Given the description of an element on the screen output the (x, y) to click on. 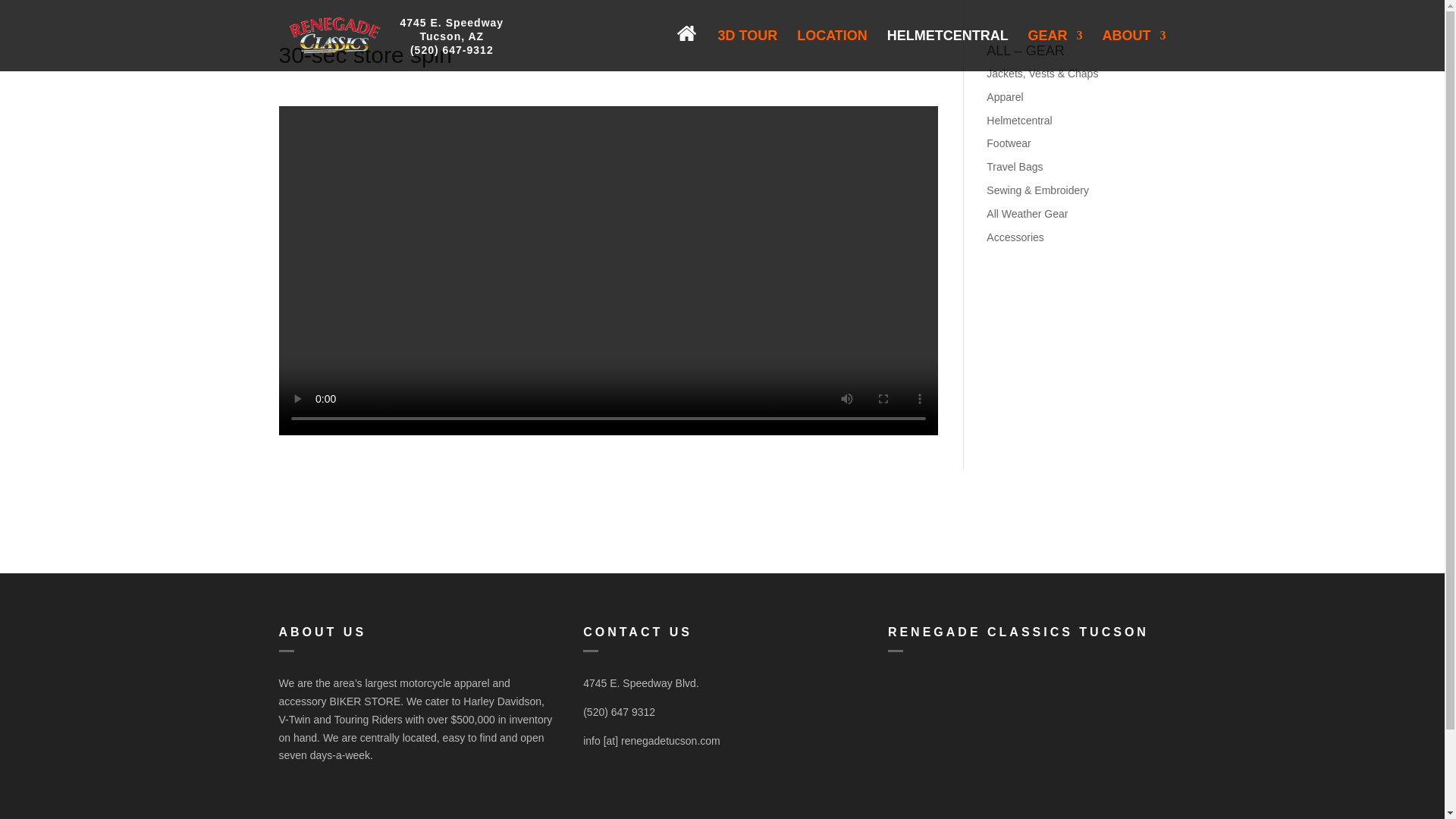
ABOUT (1134, 50)
LOCATION (451, 29)
HELMETCENTRAL (831, 50)
HOME (947, 50)
3D TOUR (695, 40)
GEAR (747, 50)
